Given the description of an element on the screen output the (x, y) to click on. 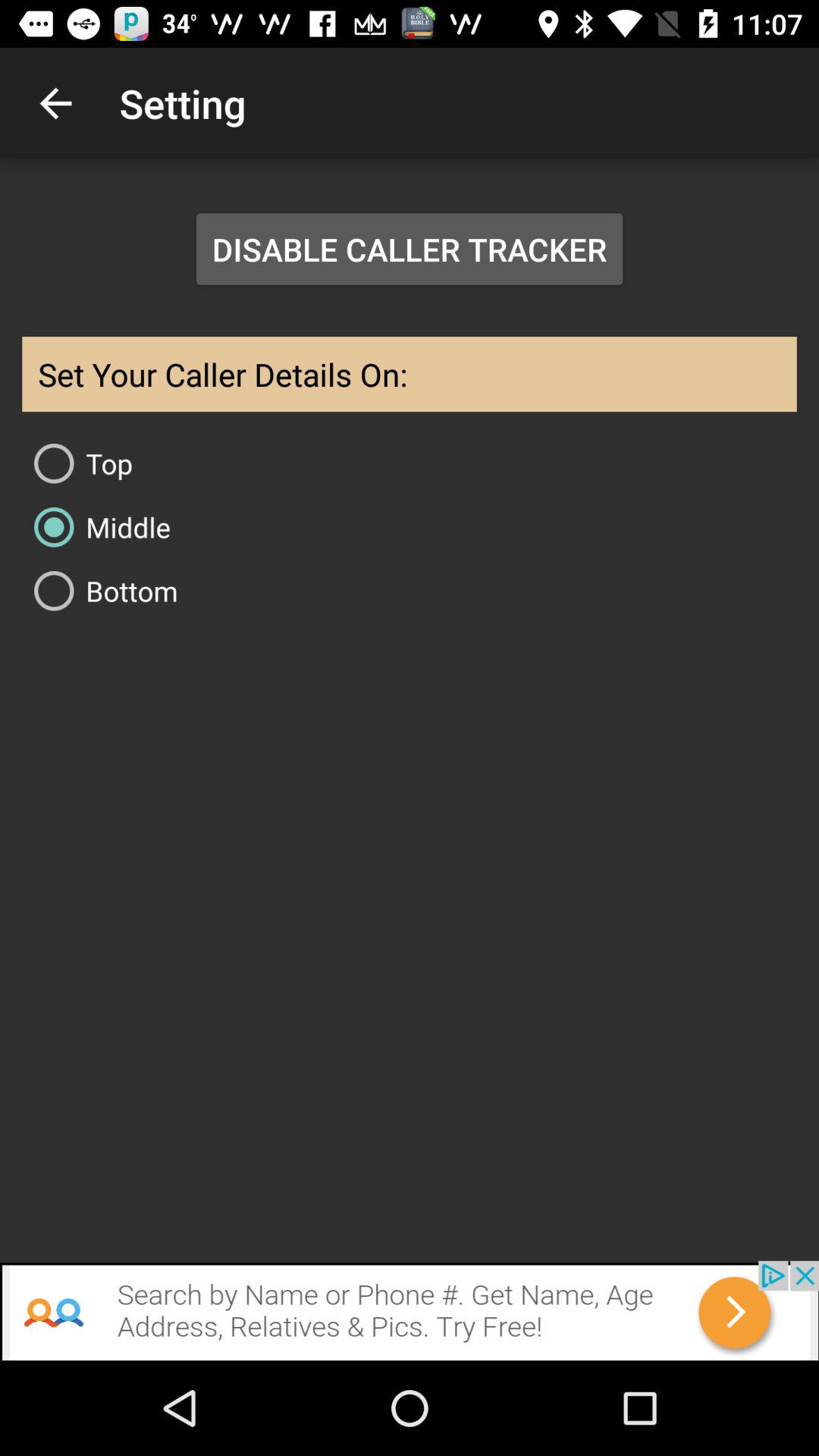
open search advertisement (409, 1310)
